Given the description of an element on the screen output the (x, y) to click on. 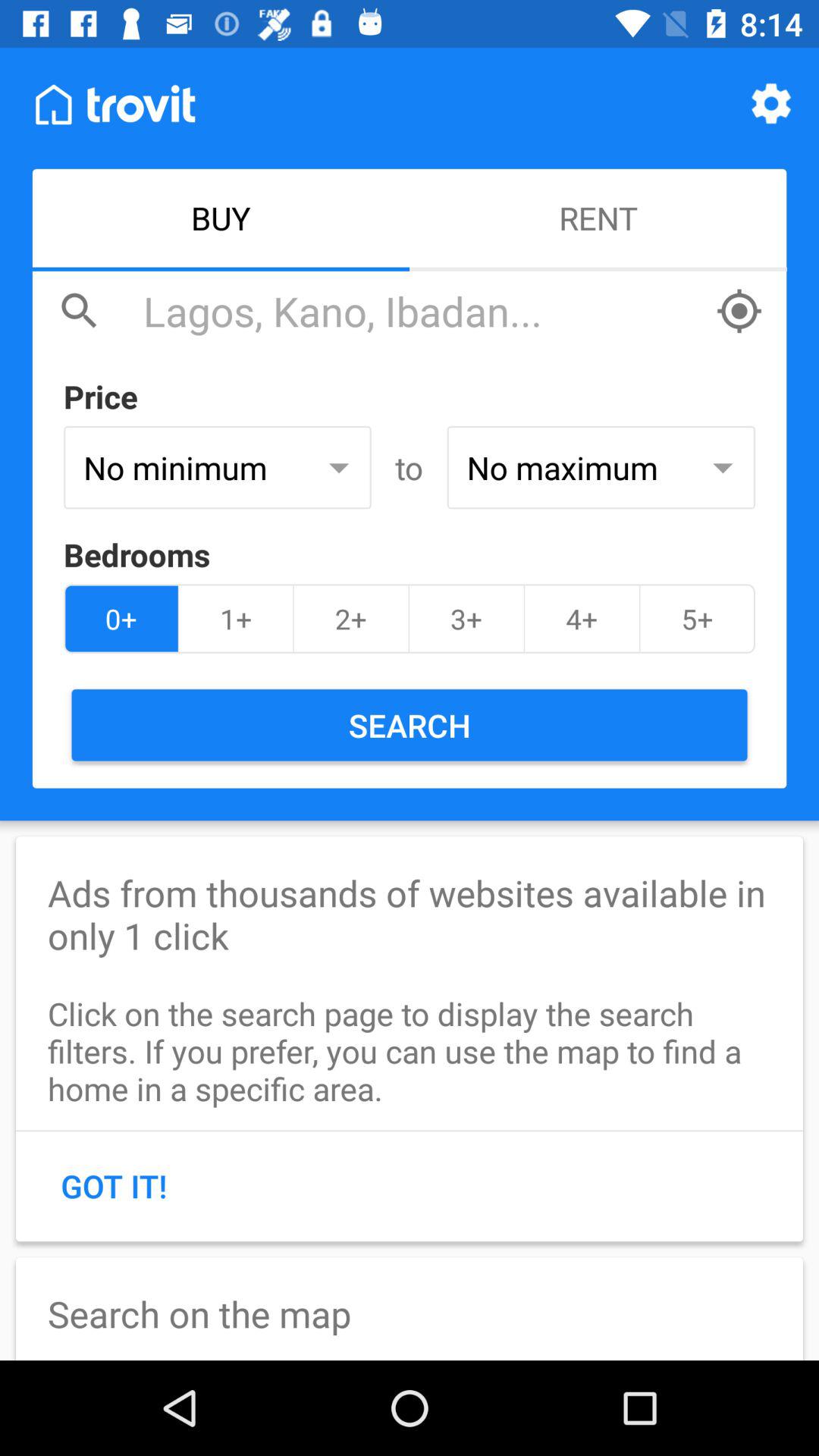
go to search (421, 310)
